Given the description of an element on the screen output the (x, y) to click on. 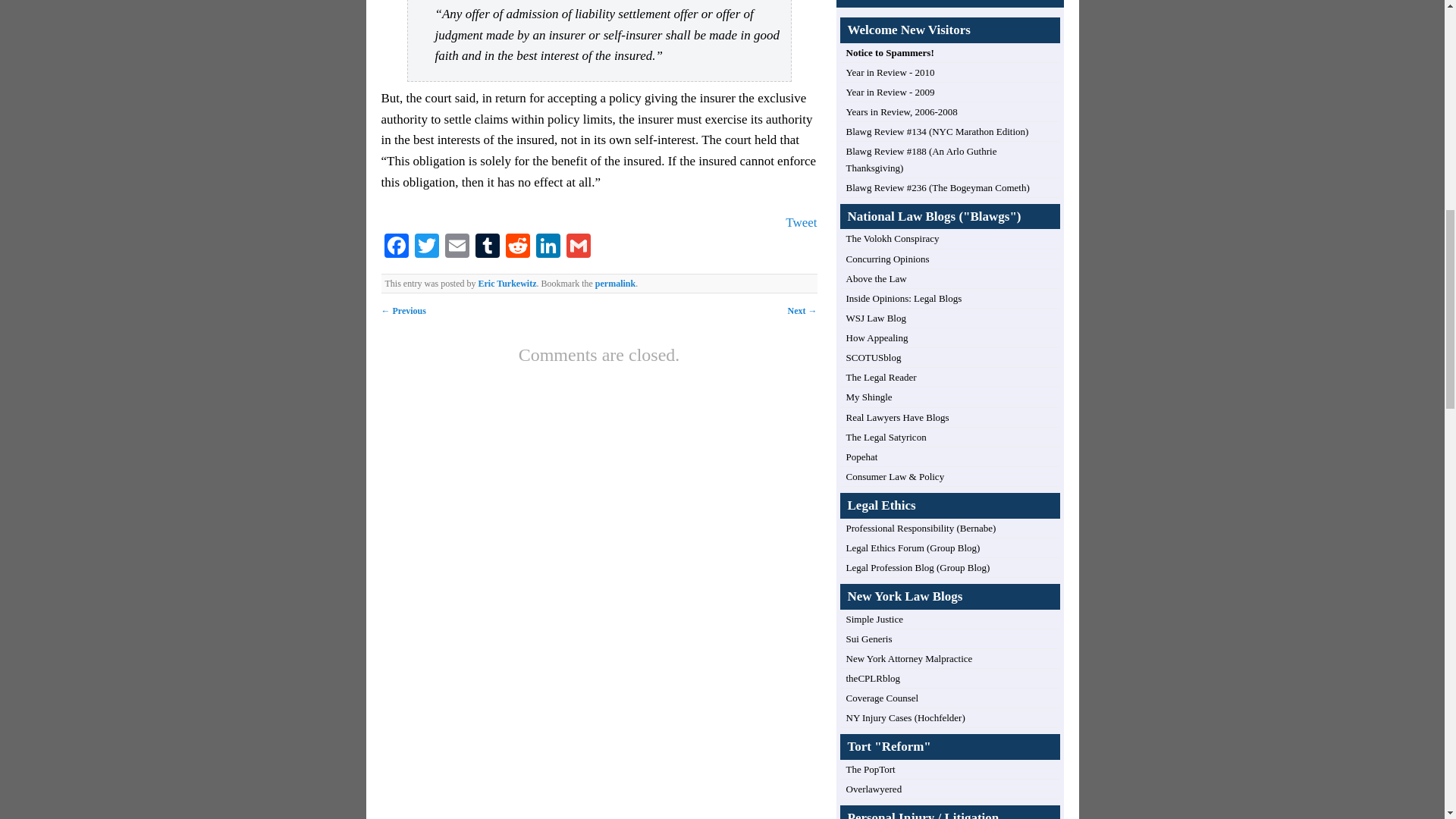
Tumblr (486, 247)
Email (456, 247)
Eric Turkewitz (506, 283)
Reddit (517, 247)
Tumblr (486, 247)
Above the Law (876, 278)
Reddit (517, 247)
Twitter (425, 247)
Email (456, 247)
Tweet (801, 222)
Facebook (395, 247)
The Volokh Conspiracy (892, 238)
Facebook (395, 247)
Twitter (425, 247)
Gmail (577, 247)
